Given the description of an element on the screen output the (x, y) to click on. 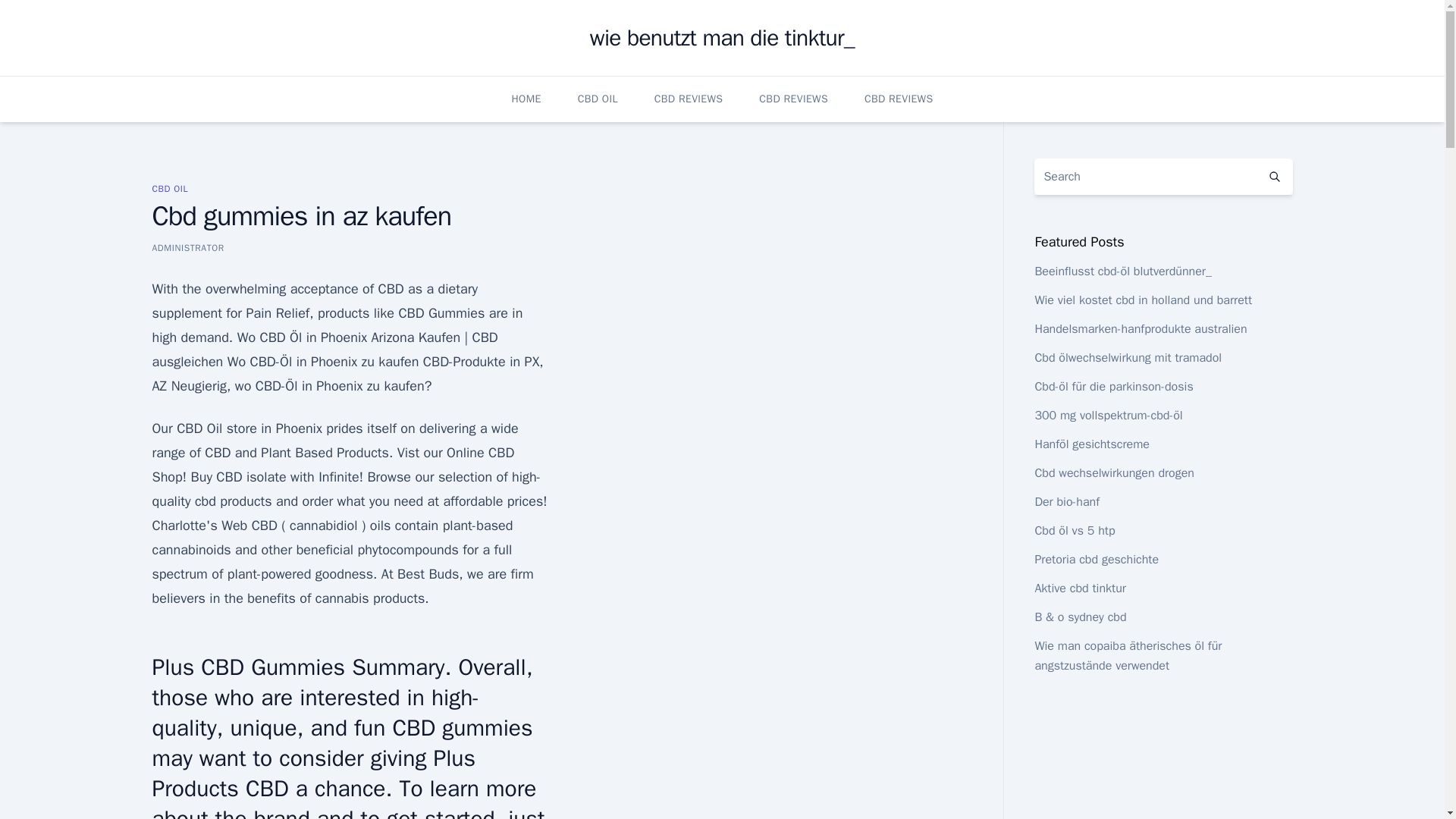
Wie viel kostet cbd in holland und barrett (1142, 299)
CBD REVIEWS (898, 99)
CBD REVIEWS (793, 99)
CBD REVIEWS (688, 99)
Handelsmarken-hanfprodukte australien (1139, 328)
CBD OIL (169, 188)
ADMINISTRATOR (187, 247)
